Given the description of an element on the screen output the (x, y) to click on. 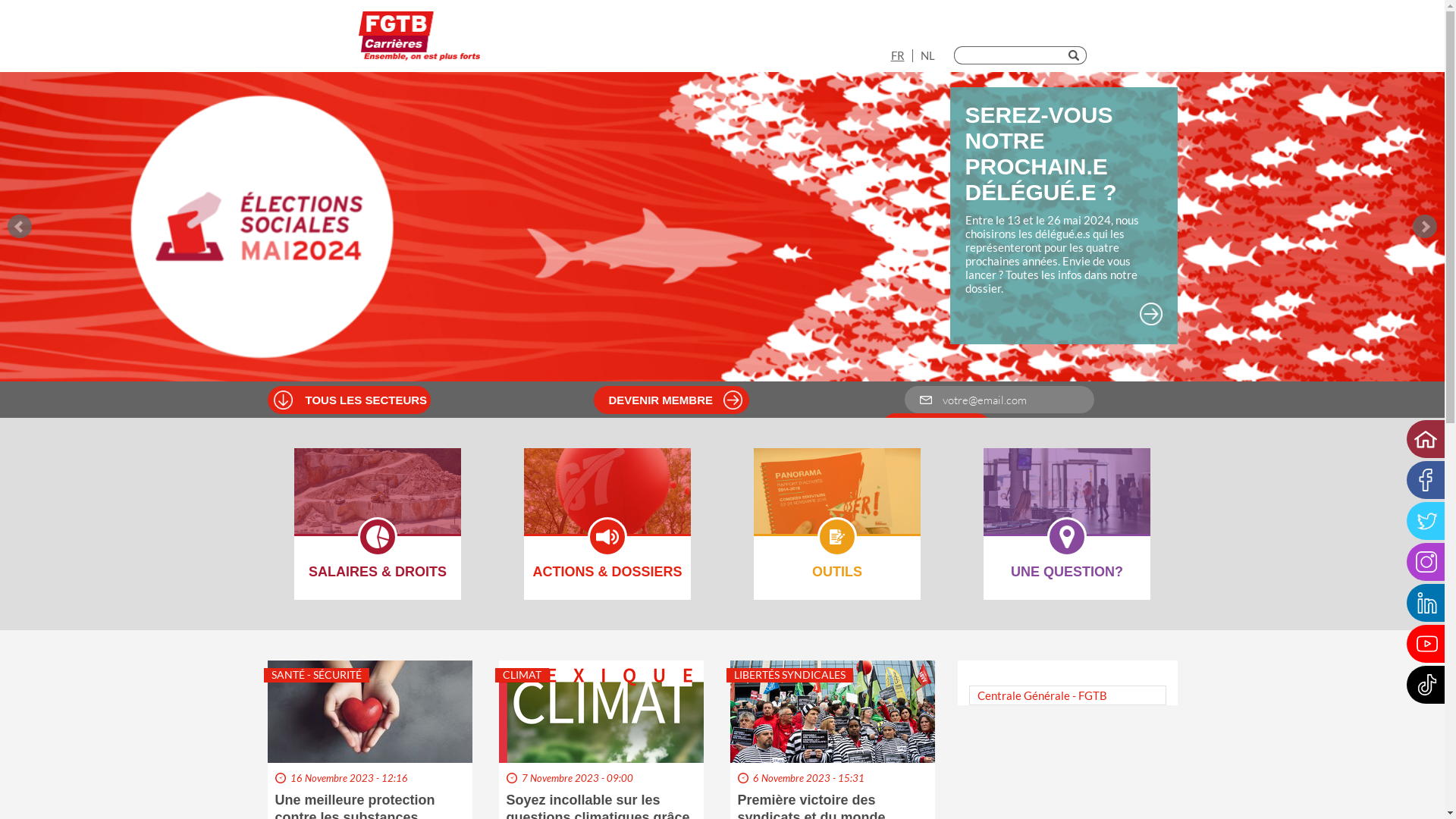
TOUS LES SECTEURS Element type: text (366, 399)
Rechercher Element type: text (1076, 55)
Aller au contenu principal Element type: text (0, 0)
ACTIONS & DOSSIERS Element type: text (607, 501)
DEVENIR MEMBRE Element type: text (678, 399)
UNE QUESTION? Element type: text (1066, 501)
OUTILS Element type: text (836, 501)
Newsletter Element type: text (935, 426)
Prev Element type: text (19, 226)
FR Element type: text (896, 55)
NL Element type: text (927, 55)
Next Element type: text (1424, 226)
